Given the description of an element on the screen output the (x, y) to click on. 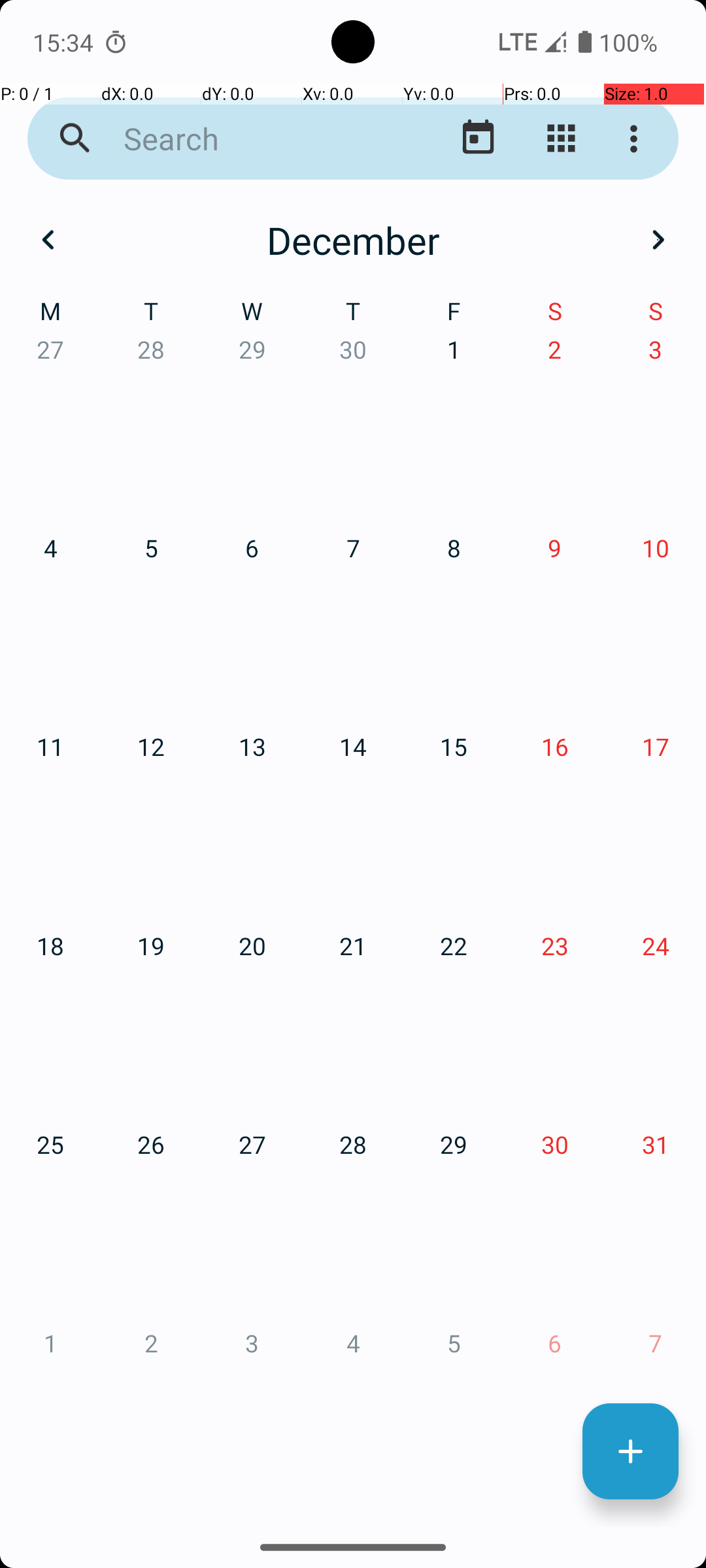
December Element type: android.widget.TextView (352, 239)
